Given the description of an element on the screen output the (x, y) to click on. 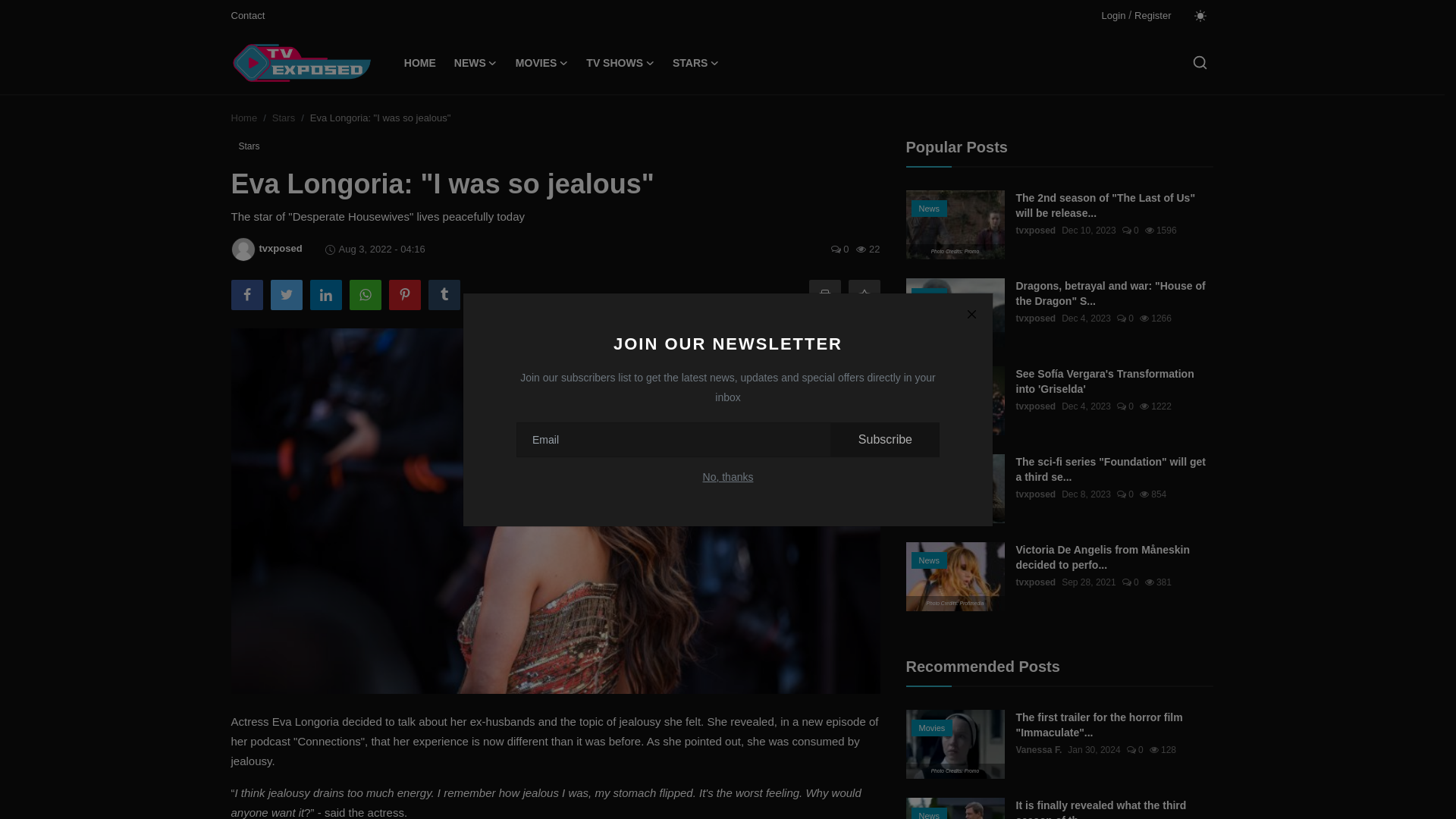
Register (1152, 15)
MOVIES (541, 62)
Contact (247, 15)
light (1199, 15)
Add to Reading List (863, 295)
STARS (695, 62)
Login (1113, 15)
TV SHOWS (619, 62)
NEWS (475, 62)
